Given the description of an element on the screen output the (x, y) to click on. 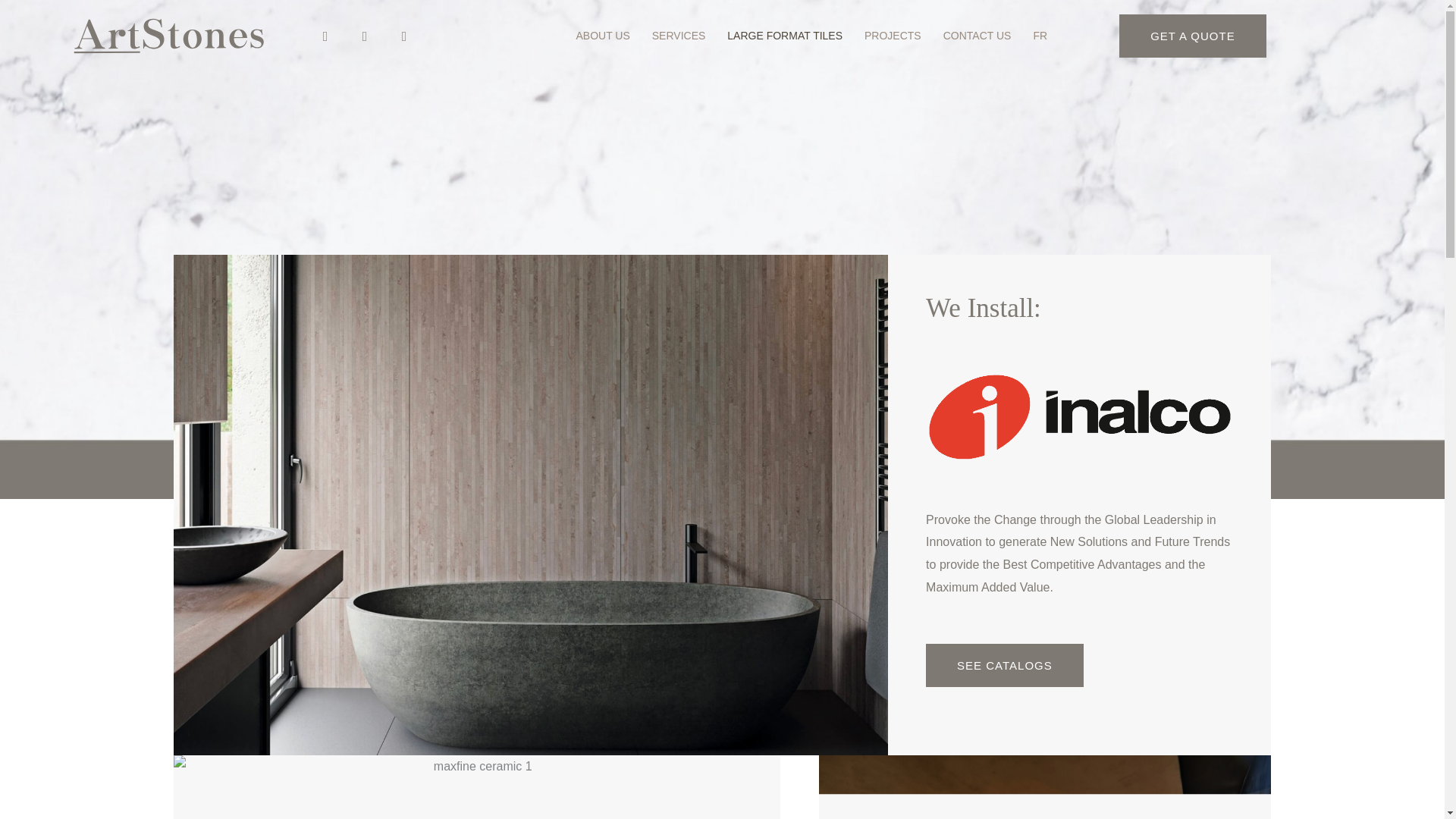
SEE CATALOGS (1004, 665)
SERVICES (679, 35)
PROJECTS (892, 35)
LARGE FORMAT TILES (784, 35)
CONTACT US (977, 35)
ABOUT US (601, 35)
GET A QUOTE (1192, 35)
